Given the description of an element on the screen output the (x, y) to click on. 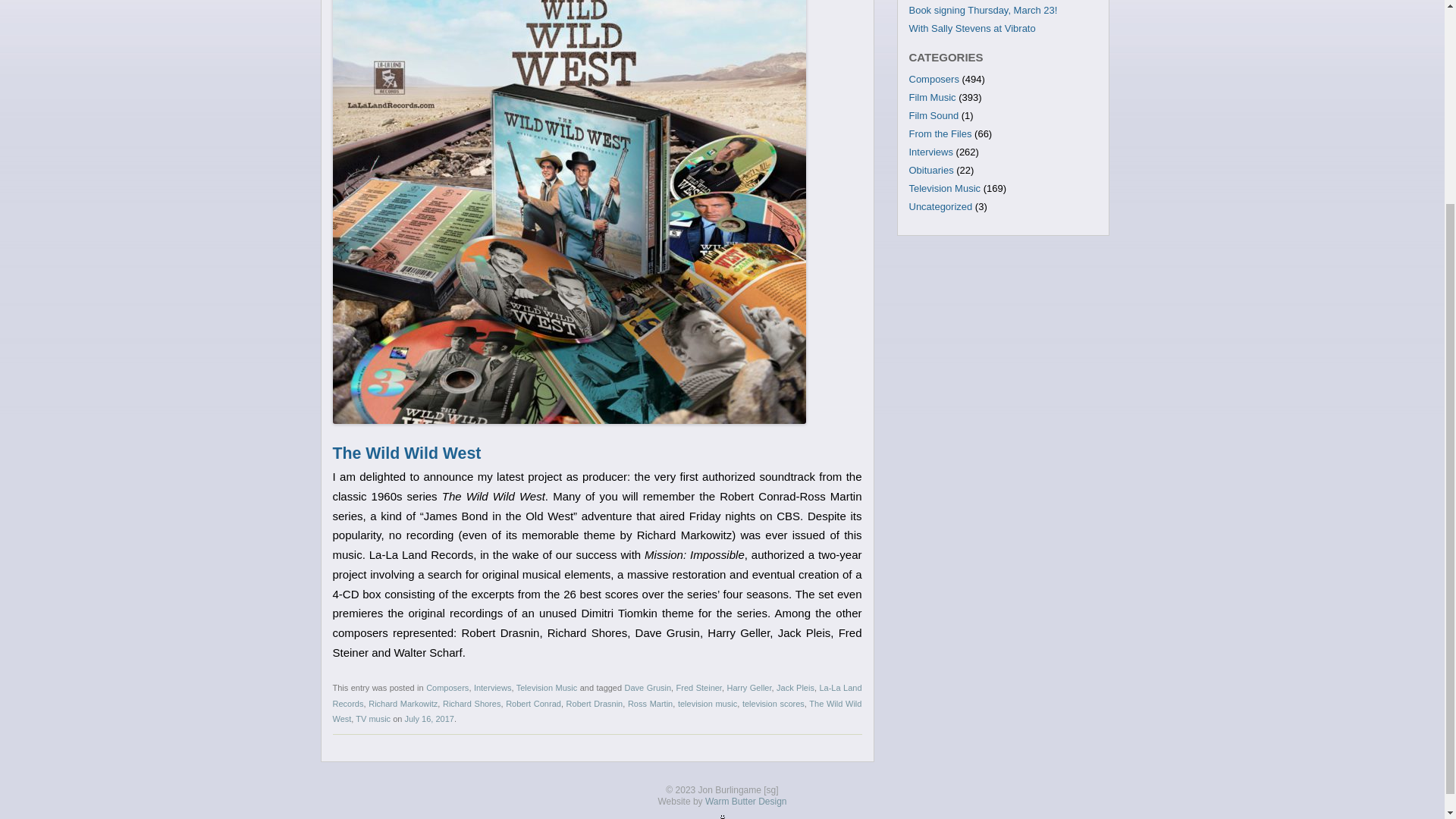
Composers (933, 79)
Film Music (931, 97)
Interviews (493, 687)
La-La Land Records (596, 695)
television scores (773, 703)
Obituaries (930, 170)
Ross Martin (649, 703)
Robert Conrad (532, 703)
Jack Pleis (794, 687)
Fred Steiner (699, 687)
